Given the description of an element on the screen output the (x, y) to click on. 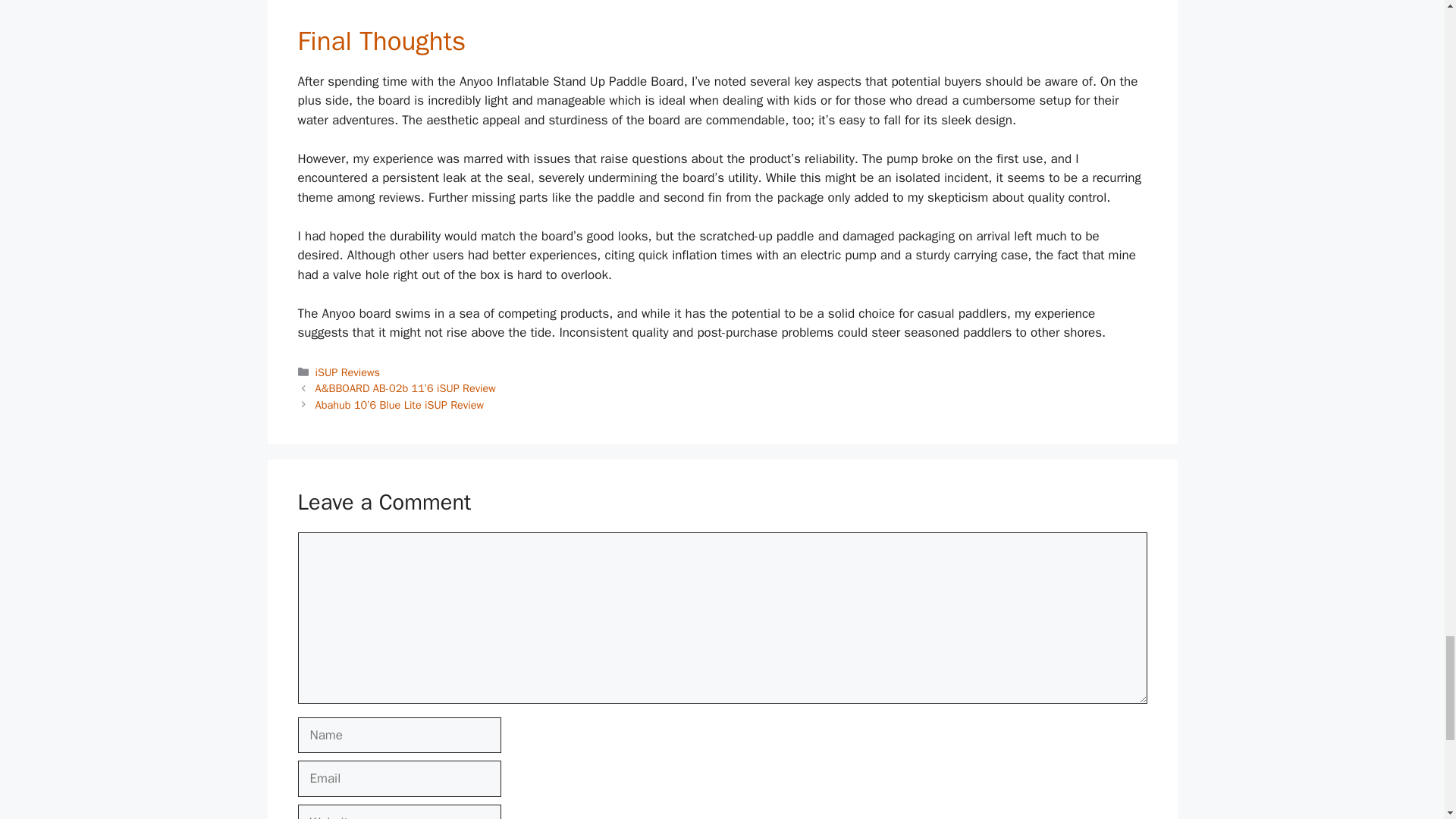
iSUP Reviews (347, 372)
